Given the description of an element on the screen output the (x, y) to click on. 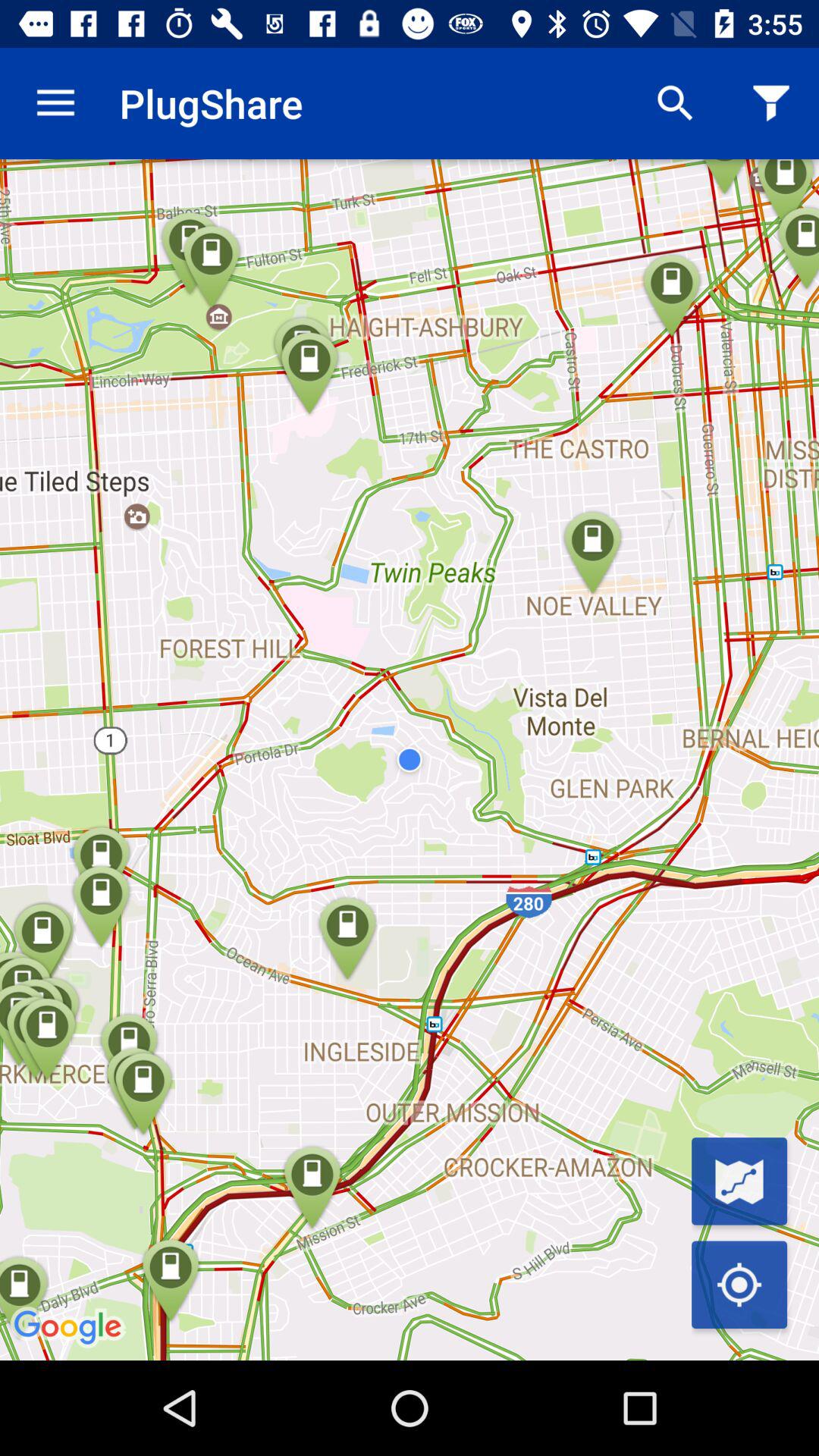
launch the icon next to plugshare app (55, 103)
